Given the description of an element on the screen output the (x, y) to click on. 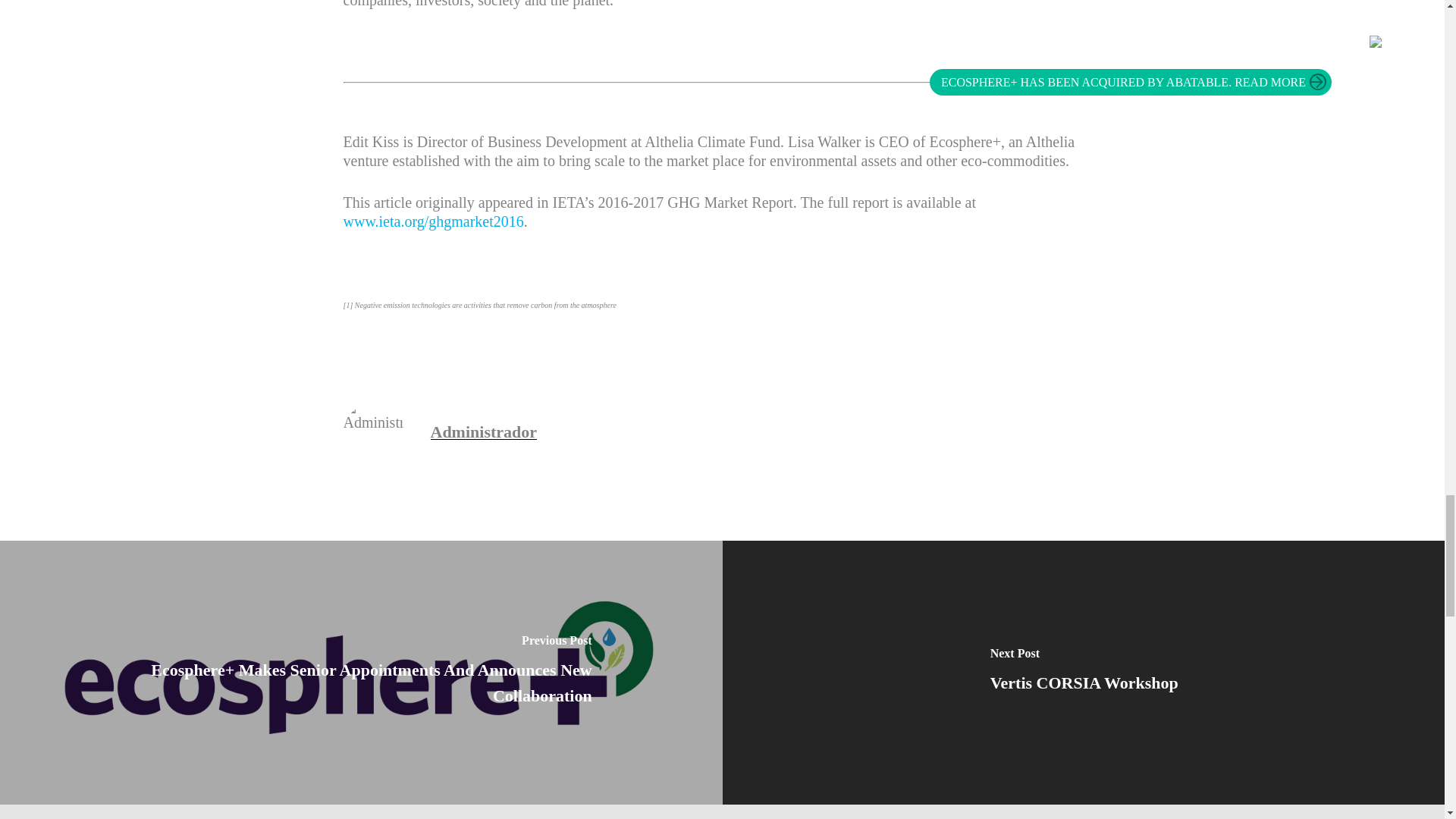
Administrador (483, 431)
